Given the description of an element on the screen output the (x, y) to click on. 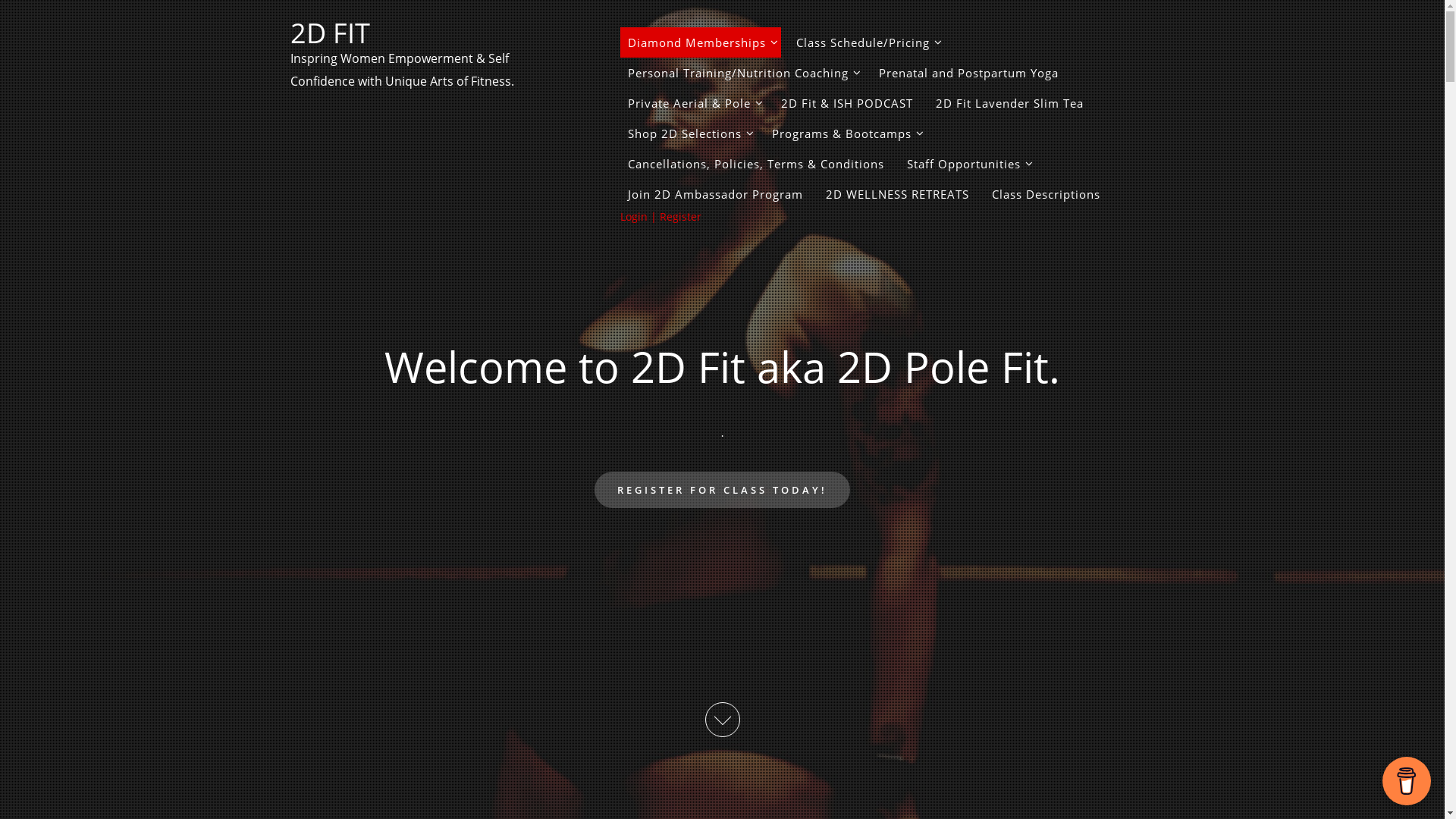
2D Fit & ISH PODCAST Element type: text (846, 102)
Personal Training/Nutrition Coaching Element type: text (741, 72)
Prenatal and Postpartum Yoga Element type: text (967, 72)
REGISTER FOR CLASS TODAY! Element type: text (722, 489)
Class Descriptions Element type: text (1045, 193)
Welcome to 2D Fit aka 2D Pole Fit. Element type: text (722, 366)
Shop 2D Selections Element type: text (688, 133)
Class Schedule/Pricing Element type: text (866, 42)
Programs & Bootcamps Element type: text (845, 133)
Diamond Memberships Element type: text (700, 42)
Cancellations, Policies, Terms & Conditions Element type: text (755, 163)
Join 2D Ambassador Program Element type: text (715, 193)
2D Fit Lavender Slim Tea Element type: text (1009, 102)
Staff Opportunities Element type: text (967, 163)
Private Aerial & Pole Element type: text (692, 102)
2D WELLNESS RETREATS Element type: text (896, 193)
2D FIT Element type: text (329, 32)
